Given the description of an element on the screen output the (x, y) to click on. 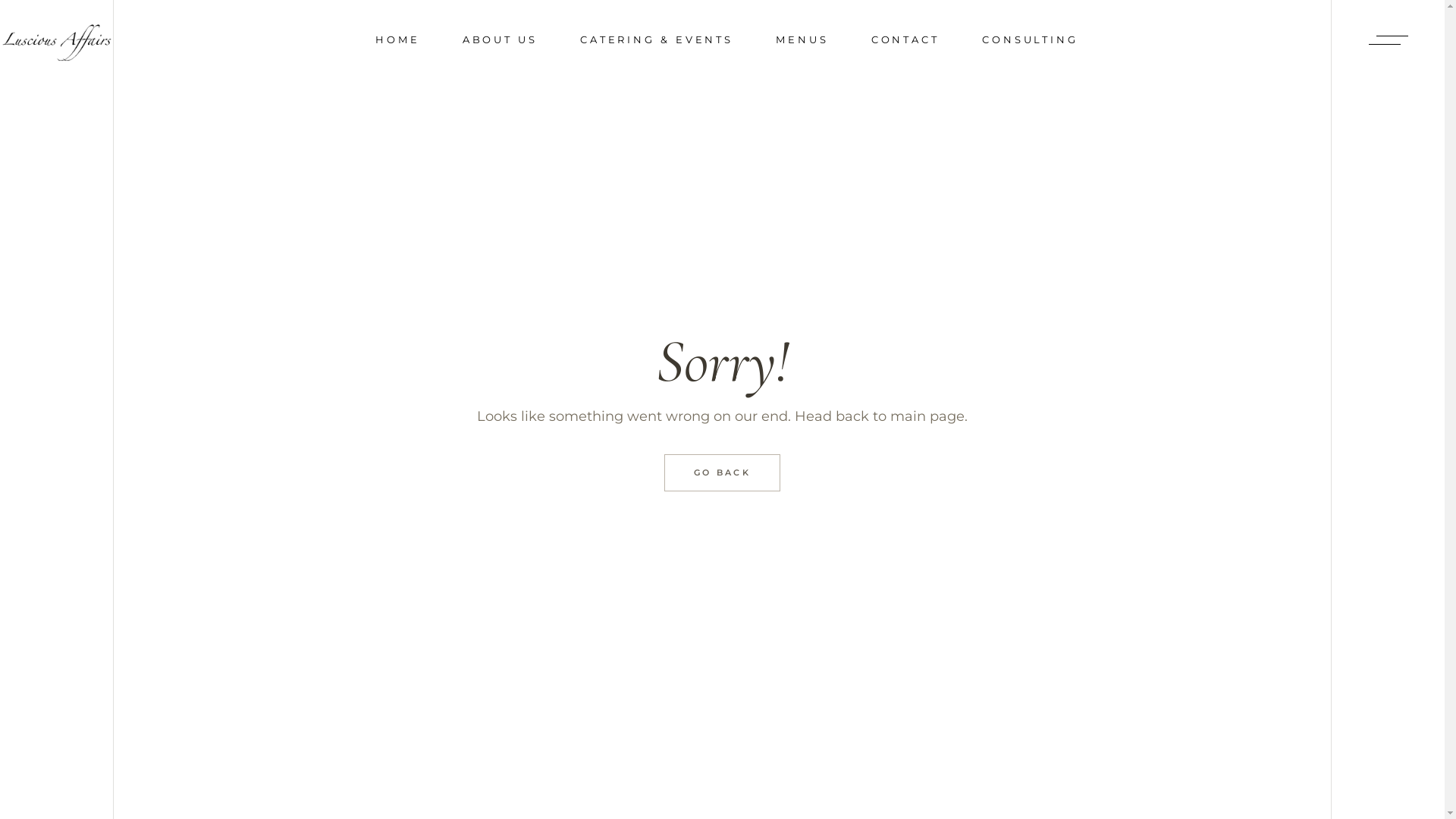
ABOUT US Element type: text (499, 39)
CONTACT Element type: text (905, 39)
CONSULTING Element type: text (1029, 39)
CATERING & EVENTS Element type: text (656, 39)
MENUS Element type: text (802, 39)
HOME Element type: text (397, 39)
GO BACK Element type: text (722, 472)
